Given the description of an element on the screen output the (x, y) to click on. 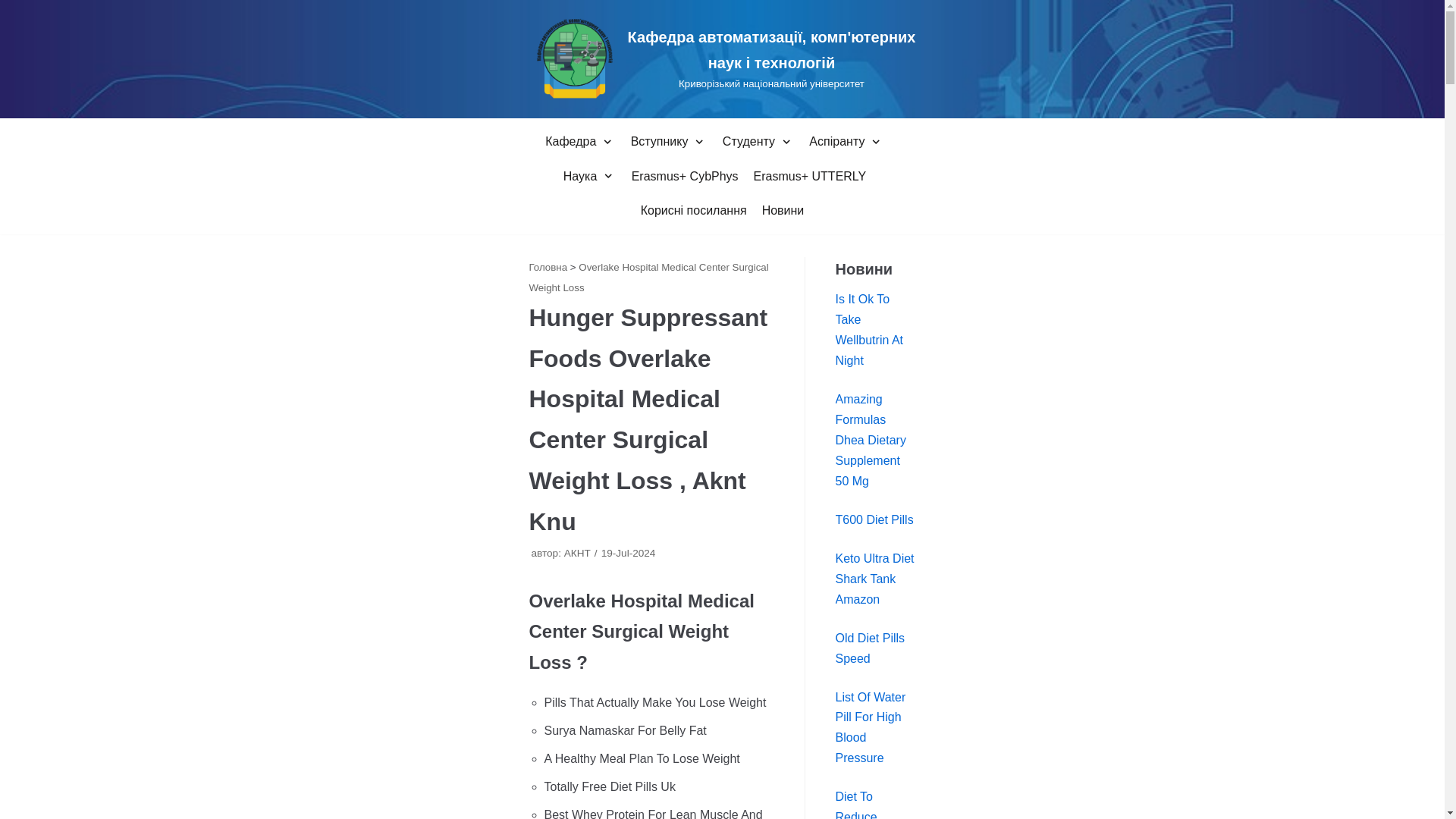
Overlake Hospital Medical Center Surgical Weight Loss (722, 58)
Overlake Hospital Medical Center Surgical Weight Loss (648, 277)
Overlake Hospital Medical Center Surgical Weight Loss (548, 266)
Overlake Hospital Medical Center Surgical Weight Loss (577, 552)
